Given the description of an element on the screen output the (x, y) to click on. 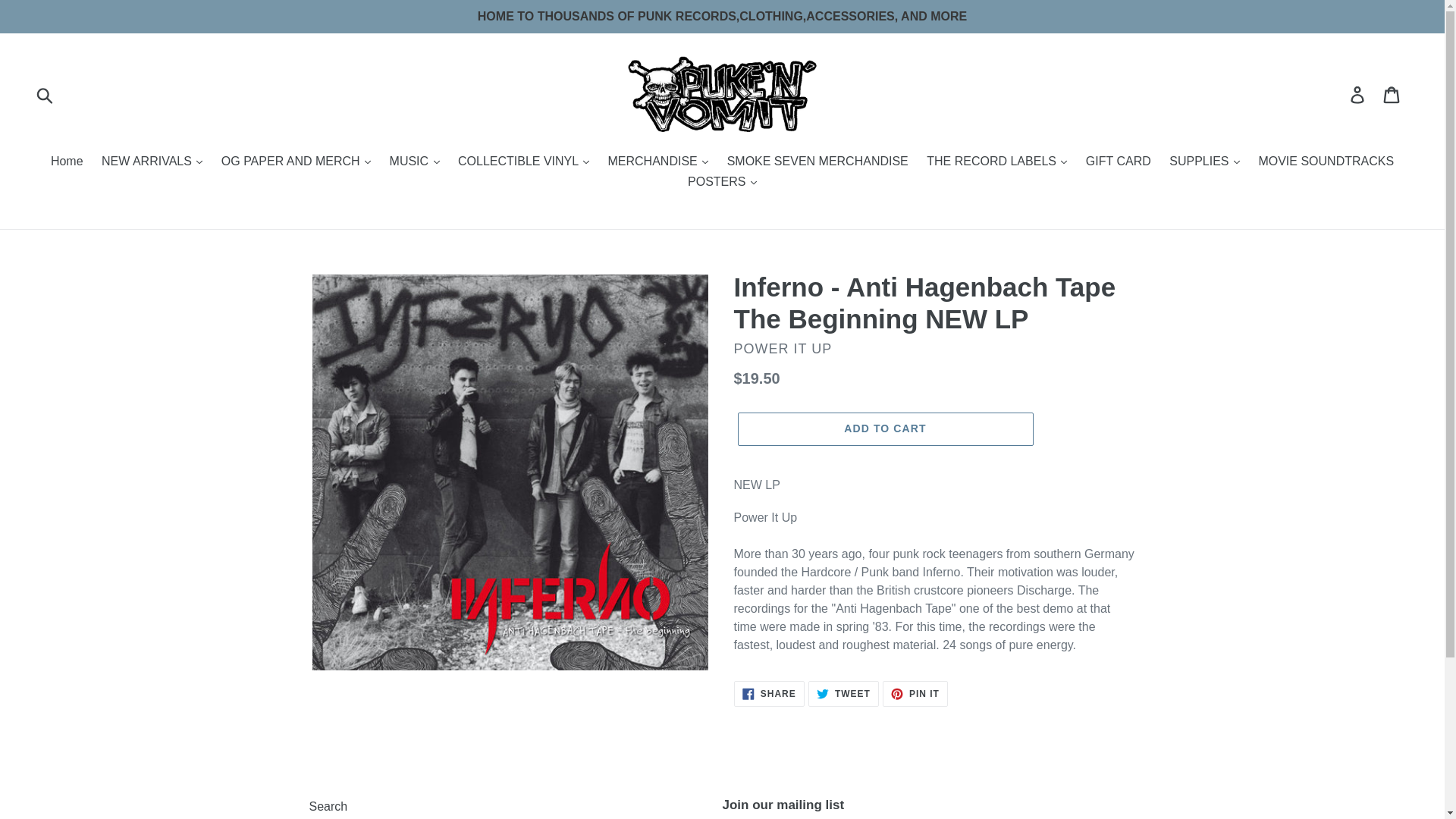
Submit (45, 94)
Cart (1392, 94)
Log in (1357, 94)
